Given the description of an element on the screen output the (x, y) to click on. 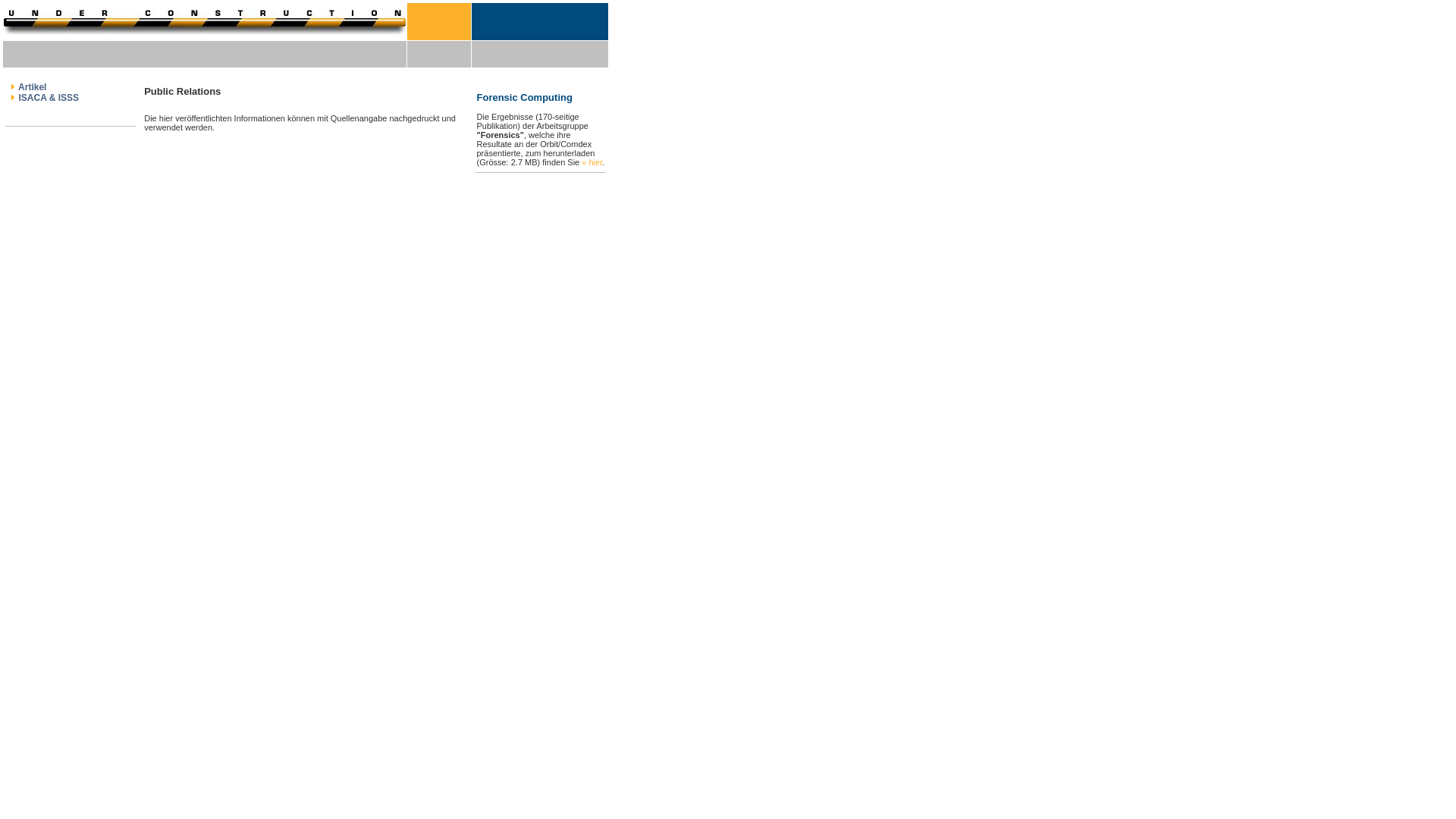
Artikel Element type: text (30, 86)
ISACA & ISSS Element type: text (46, 97)
